Given the description of an element on the screen output the (x, y) to click on. 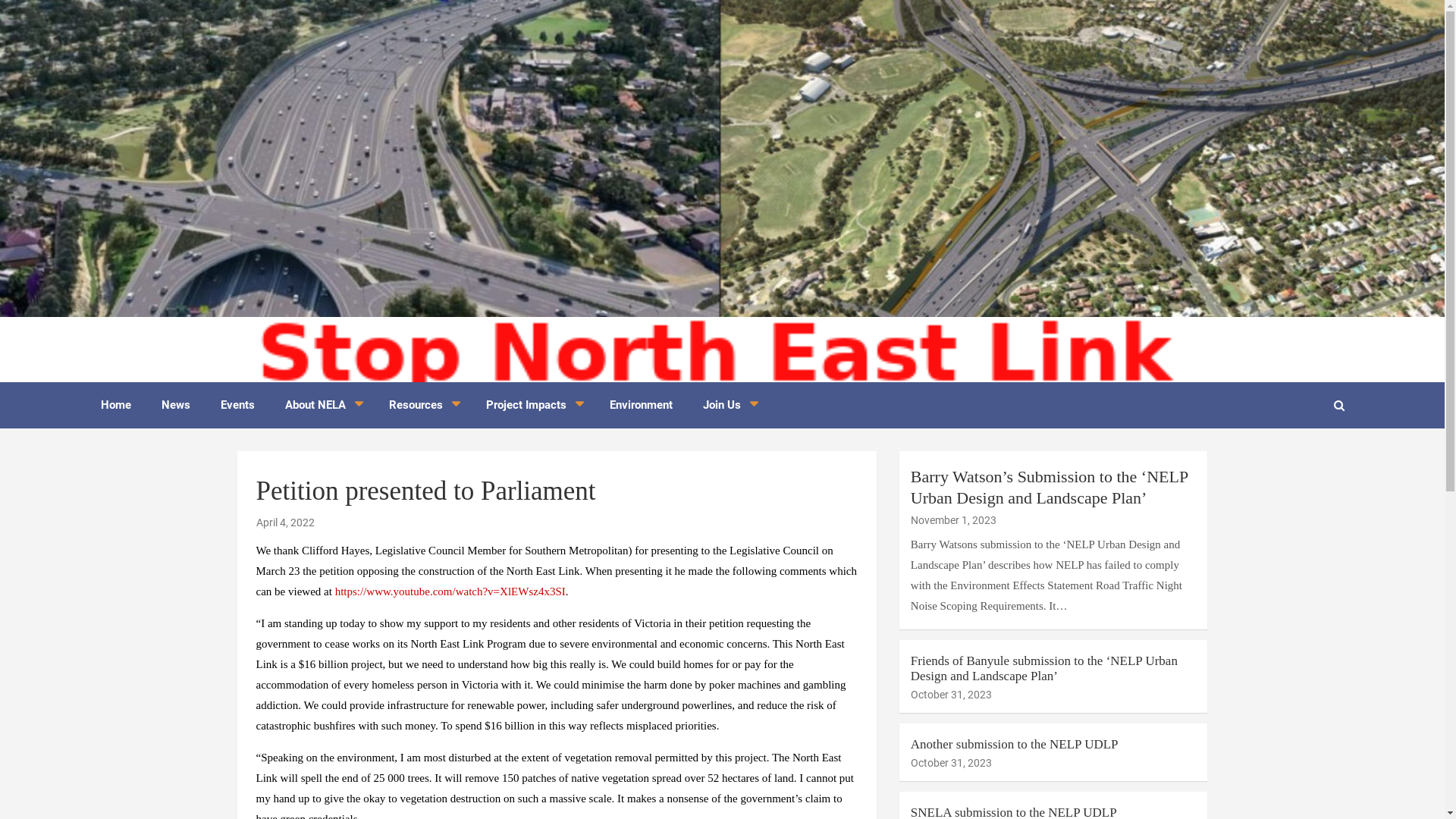
https://www.youtube.com/watch?v=XlEWsz4x3SI Element type: text (450, 591)
Join Us Element type: text (727, 405)
Stop North East Link Alliance Element type: text (280, 366)
Environment Element type: text (640, 405)
October 31, 2023 Element type: text (950, 762)
News Element type: text (174, 405)
Home Element type: text (114, 405)
Another submission to the NELP UDLP Element type: text (1014, 744)
Resources Element type: text (421, 405)
Events Element type: text (236, 405)
About NELA Element type: text (321, 405)
November 1, 2023 Element type: text (953, 520)
Project Impacts Element type: text (531, 405)
April 4, 2022 Element type: text (285, 522)
October 31, 2023 Element type: text (950, 694)
